Given the description of an element on the screen output the (x, y) to click on. 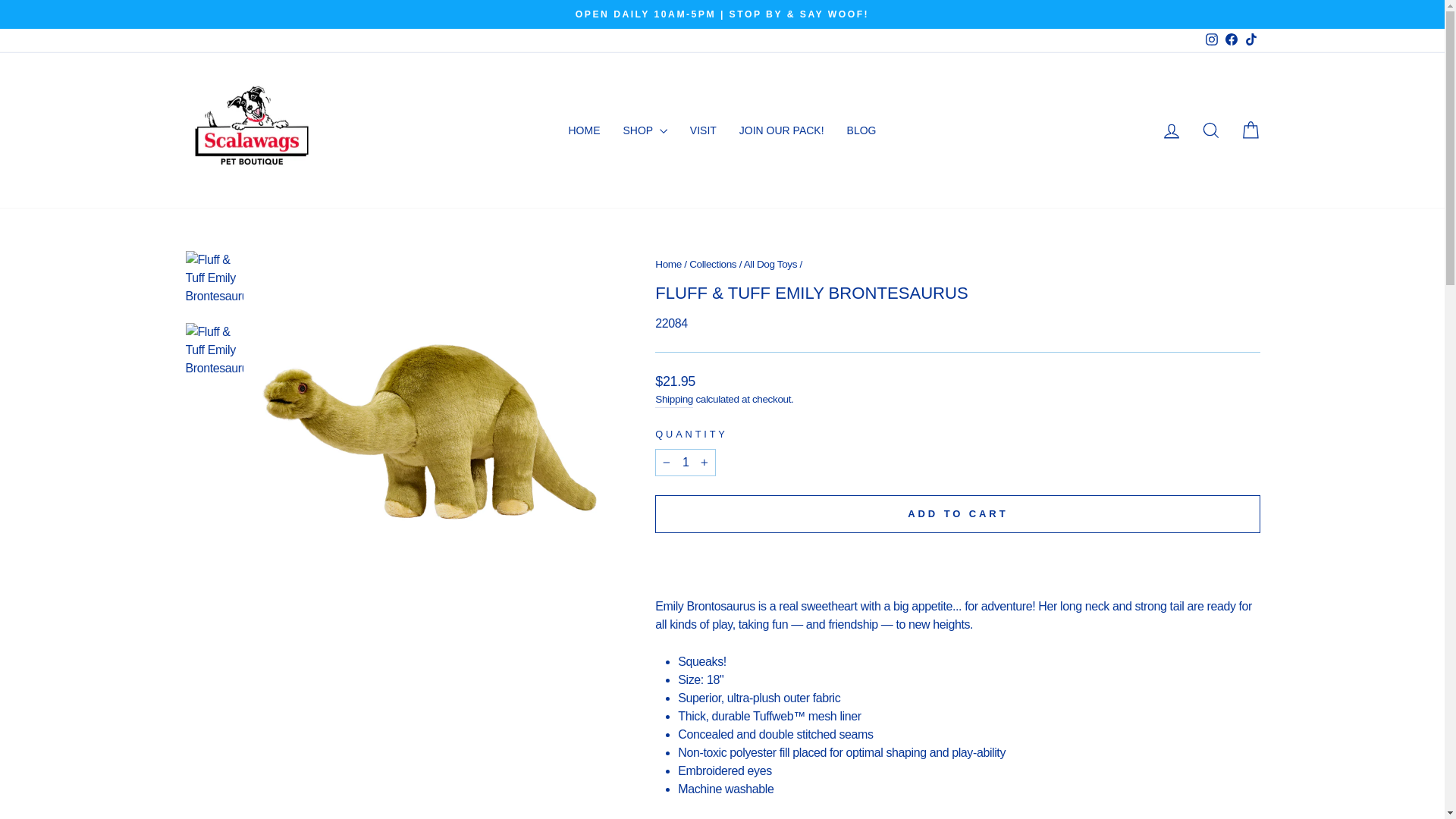
ICON-SEARCH (1210, 129)
ACCOUNT (1170, 130)
instagram (1211, 39)
HOME (583, 130)
Home (668, 264)
1 (685, 461)
